Given the description of an element on the screen output the (x, y) to click on. 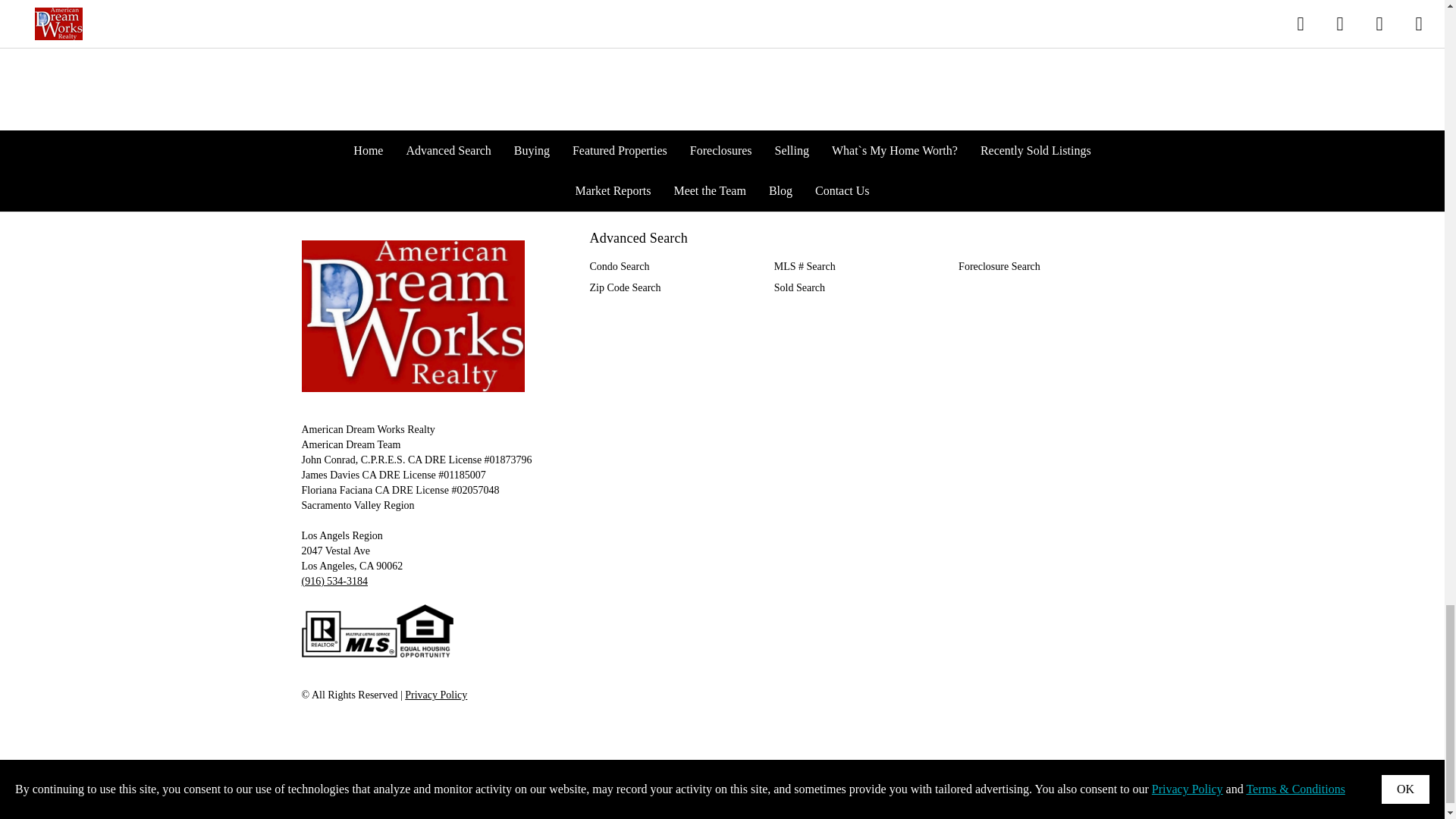
Logo (412, 316)
MLS Logo (376, 631)
Phone Number (334, 581)
